Given the description of an element on the screen output the (x, y) to click on. 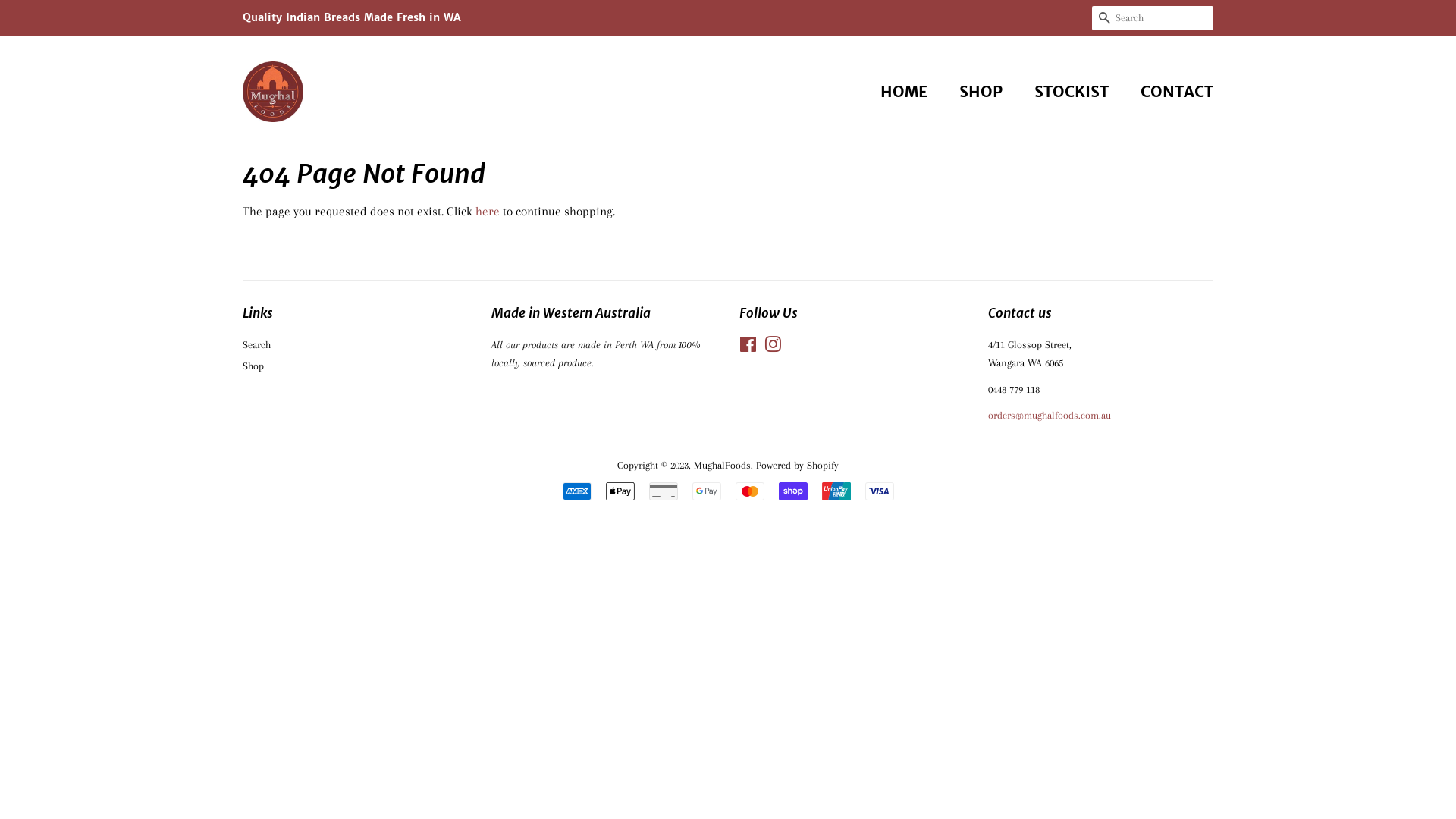
SHOP Element type: text (982, 91)
Search Element type: text (256, 344)
here Element type: text (487, 210)
orders@mughalfoods.com.au Element type: text (1048, 414)
Instagram Element type: text (772, 347)
SEARCH Element type: text (1104, 18)
Shop Element type: text (252, 365)
Facebook Element type: text (747, 347)
CONTACT Element type: text (1171, 91)
HOME Element type: text (911, 91)
STOCKIST Element type: text (1072, 91)
Powered by Shopify Element type: text (797, 464)
MughalFoods Element type: text (721, 464)
